Given the description of an element on the screen output the (x, y) to click on. 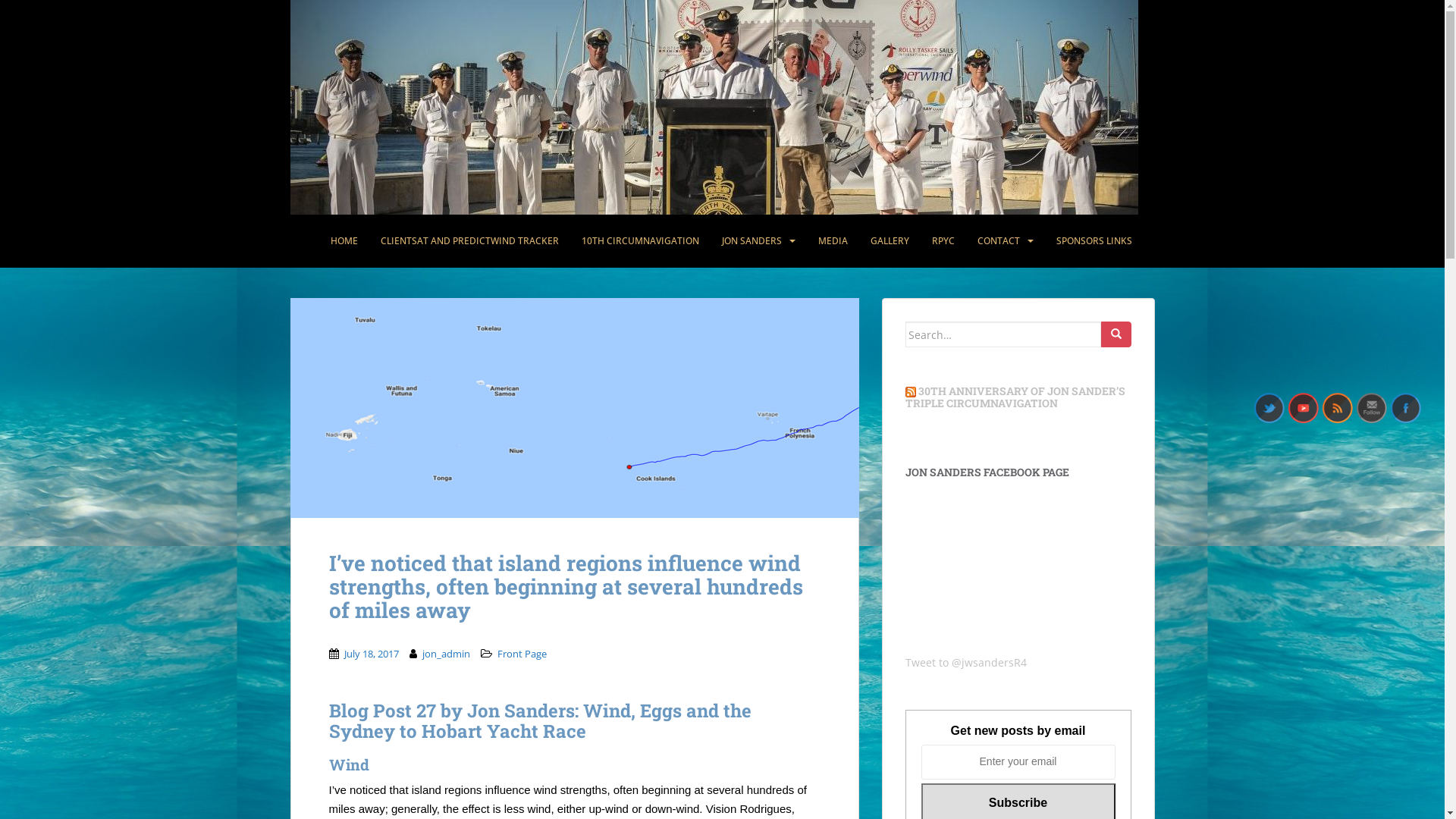
Search Element type: text (1116, 334)
July 18, 2017 Element type: text (371, 653)
MEDIA Element type: text (832, 240)
YouTube Element type: hover (1303, 407)
jon_admin Element type: text (445, 653)
CLIENTSAT AND PREDICTWIND TRACKER Element type: text (469, 240)
Twitter Element type: hover (1269, 407)
GALLERY Element type: text (889, 240)
JON SANDERS Element type: text (751, 240)
10TH CIRCUMNAVIGATION Element type: text (639, 240)
CONTACT Element type: text (997, 240)
Tweet to @jwsandersR4 Element type: text (965, 662)
SPONSORS LINKS Element type: text (1093, 240)
Search for: Element type: hover (1003, 334)
RSS Element type: hover (1337, 407)
RPYC Element type: text (942, 240)
Follow by Email Element type: hover (1371, 407)
Facebook Element type: hover (1405, 407)
HOME Element type: text (343, 240)
Front Page Element type: text (521, 653)
